Given the description of an element on the screen output the (x, y) to click on. 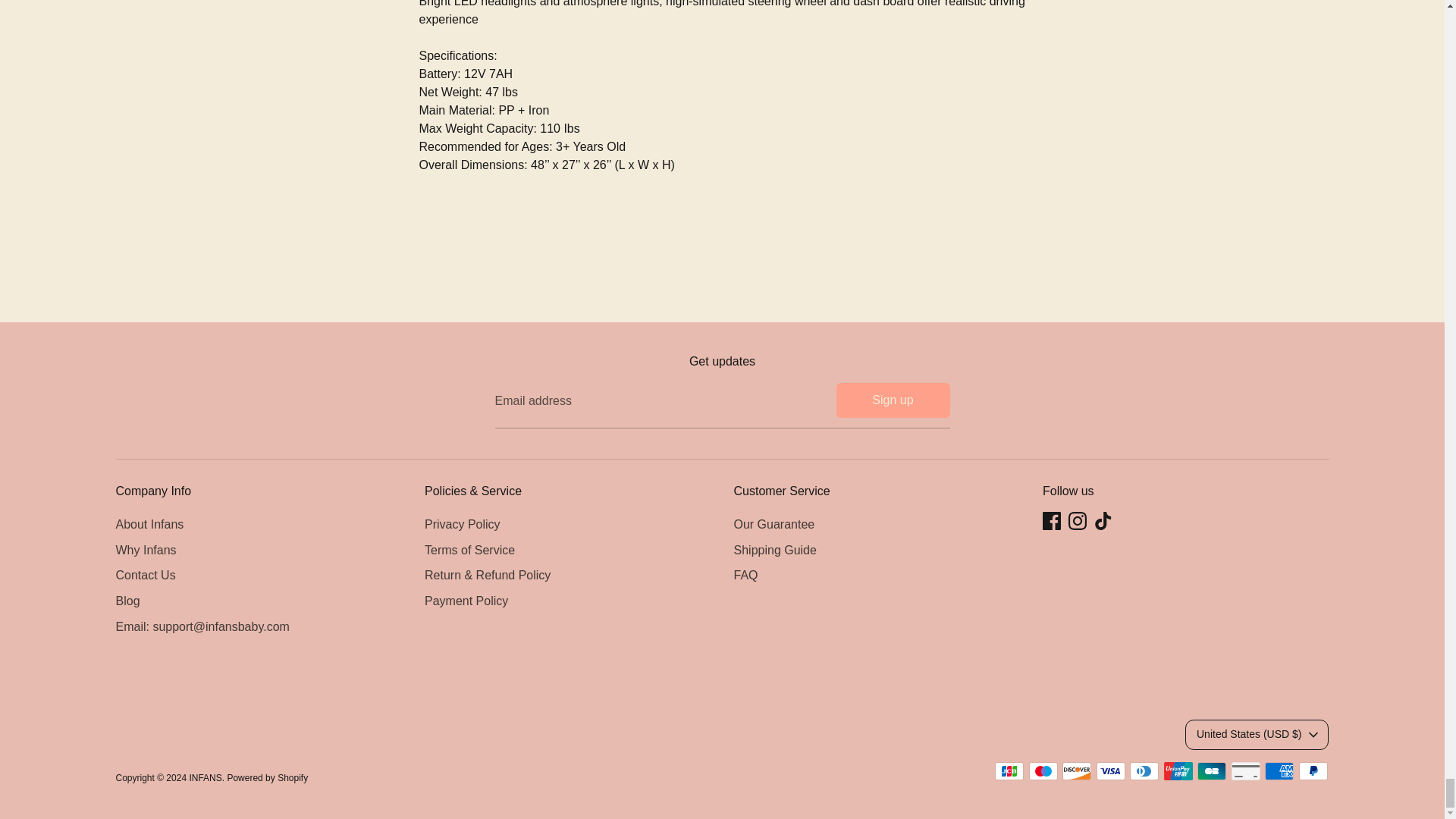
JCB (1008, 771)
Discover (1076, 771)
Diners Club (1143, 771)
Maestro (1043, 771)
Visa (1110, 771)
